Given the description of an element on the screen output the (x, y) to click on. 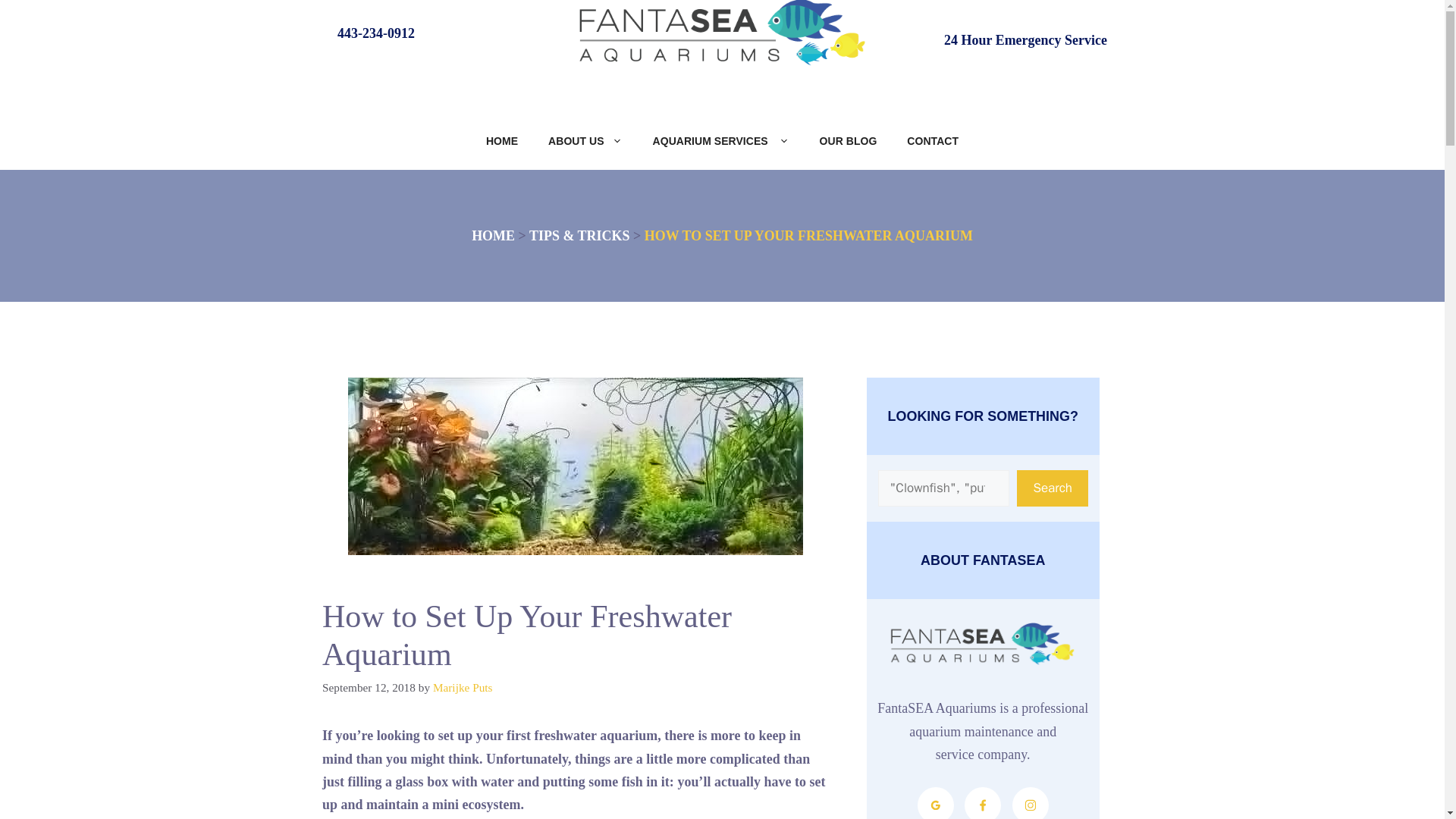
CONTACT (932, 140)
AQUARIUM SERVICES  (721, 140)
Marijke Puts (462, 686)
FantaSEA logo with color and black text (982, 644)
HOME (501, 140)
HOME (493, 235)
ABOUT US (584, 140)
OUR BLOG (848, 140)
443-234-0912 (375, 32)
View all posts by Marijke Puts (462, 686)
